Given the description of an element on the screen output the (x, y) to click on. 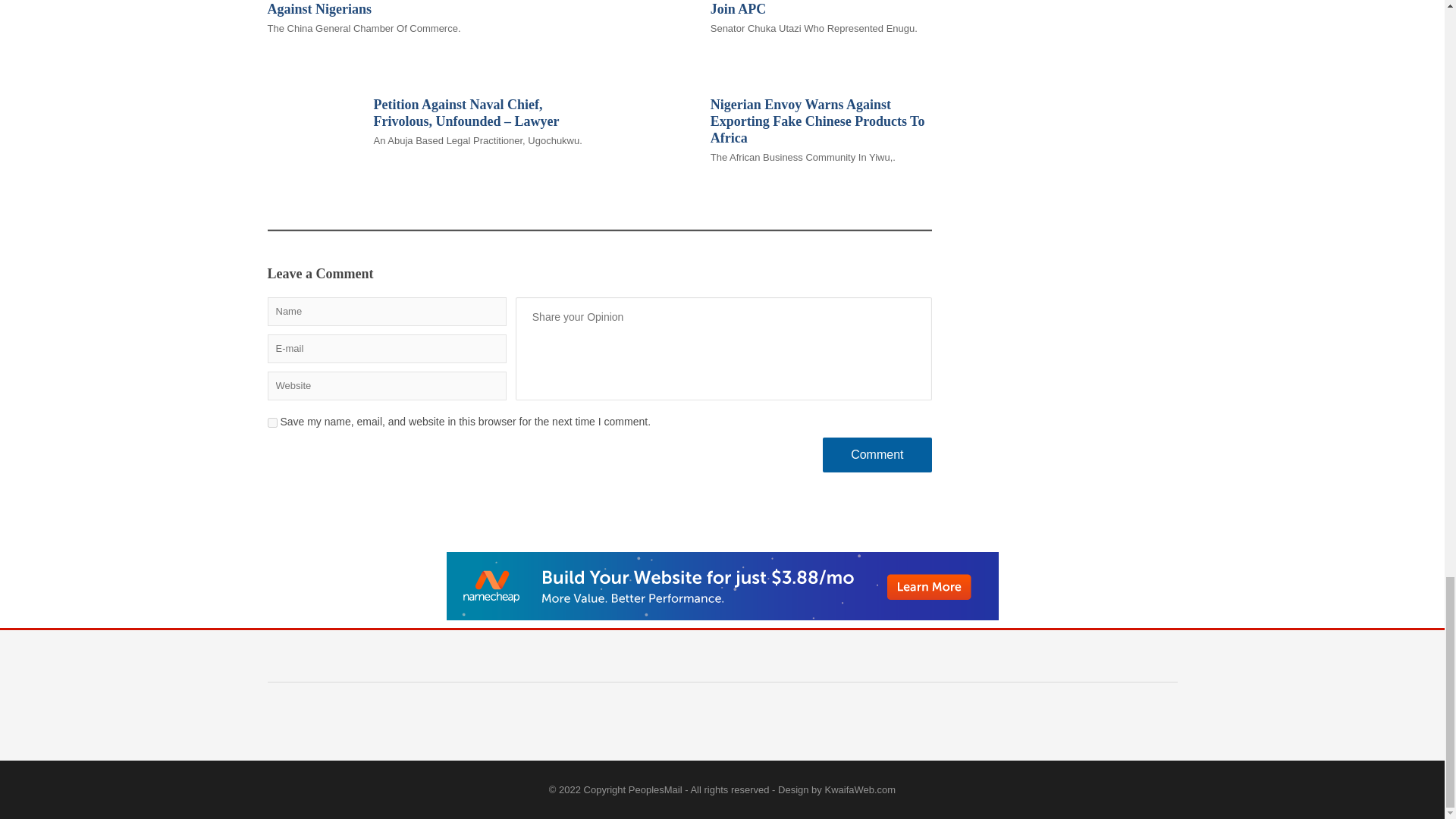
yes (271, 422)
Comment (876, 454)
